Given the description of an element on the screen output the (x, y) to click on. 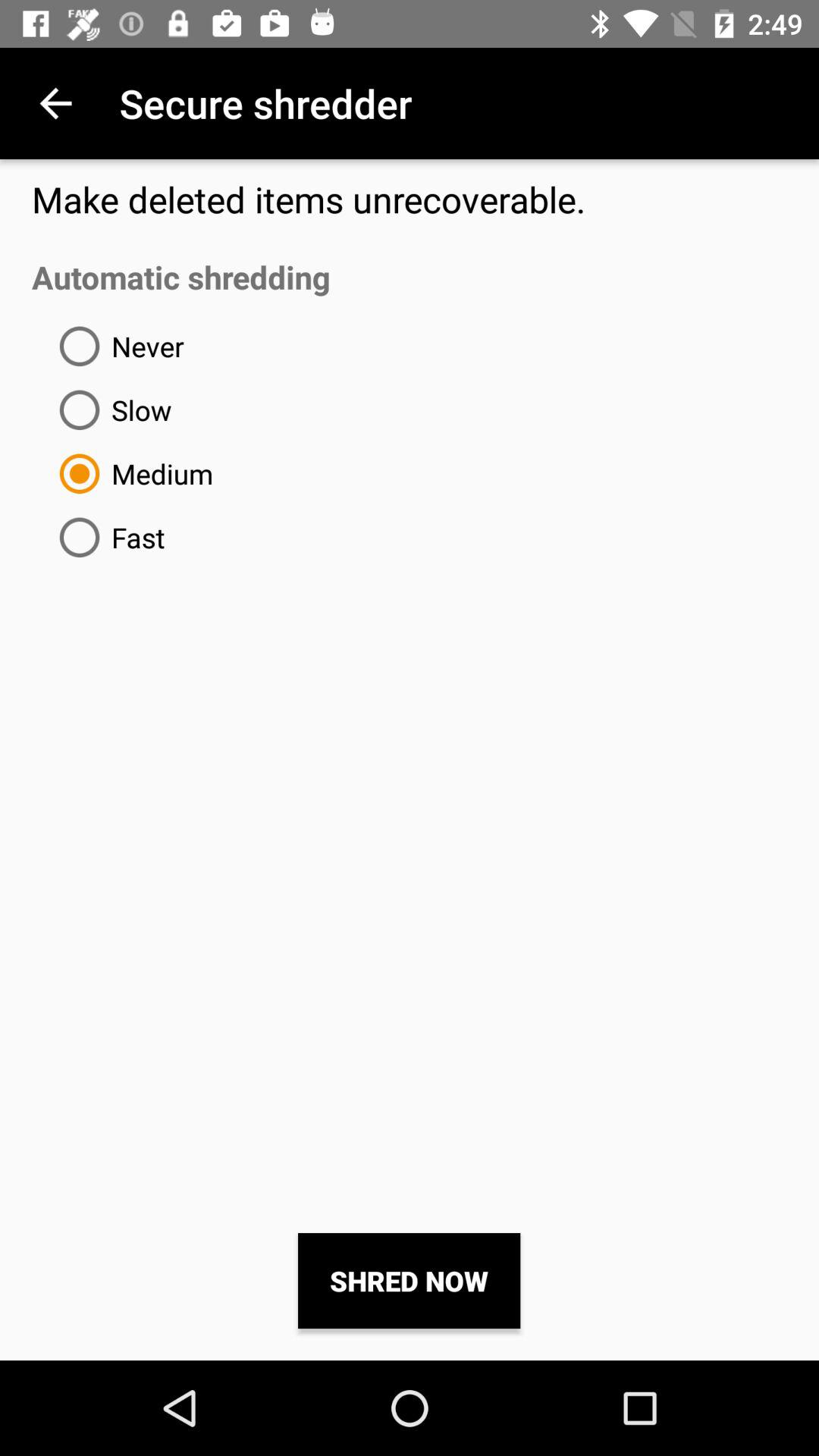
choose icon on the left (105, 537)
